Given the description of an element on the screen output the (x, y) to click on. 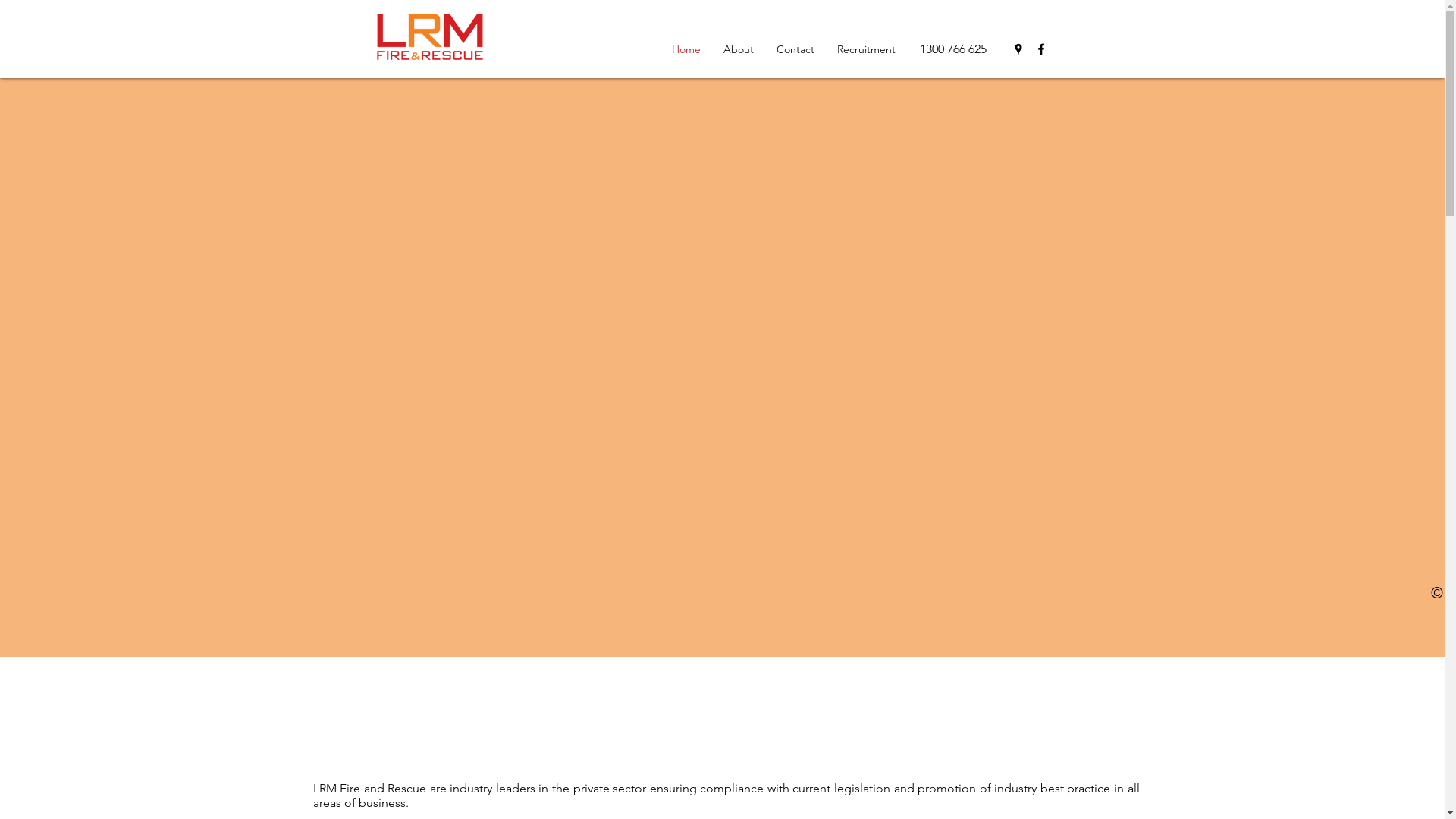
About Element type: text (737, 48)
Contact Element type: text (794, 48)
Recruitment Element type: text (865, 48)
Home Element type: text (685, 48)
